Given the description of an element on the screen output the (x, y) to click on. 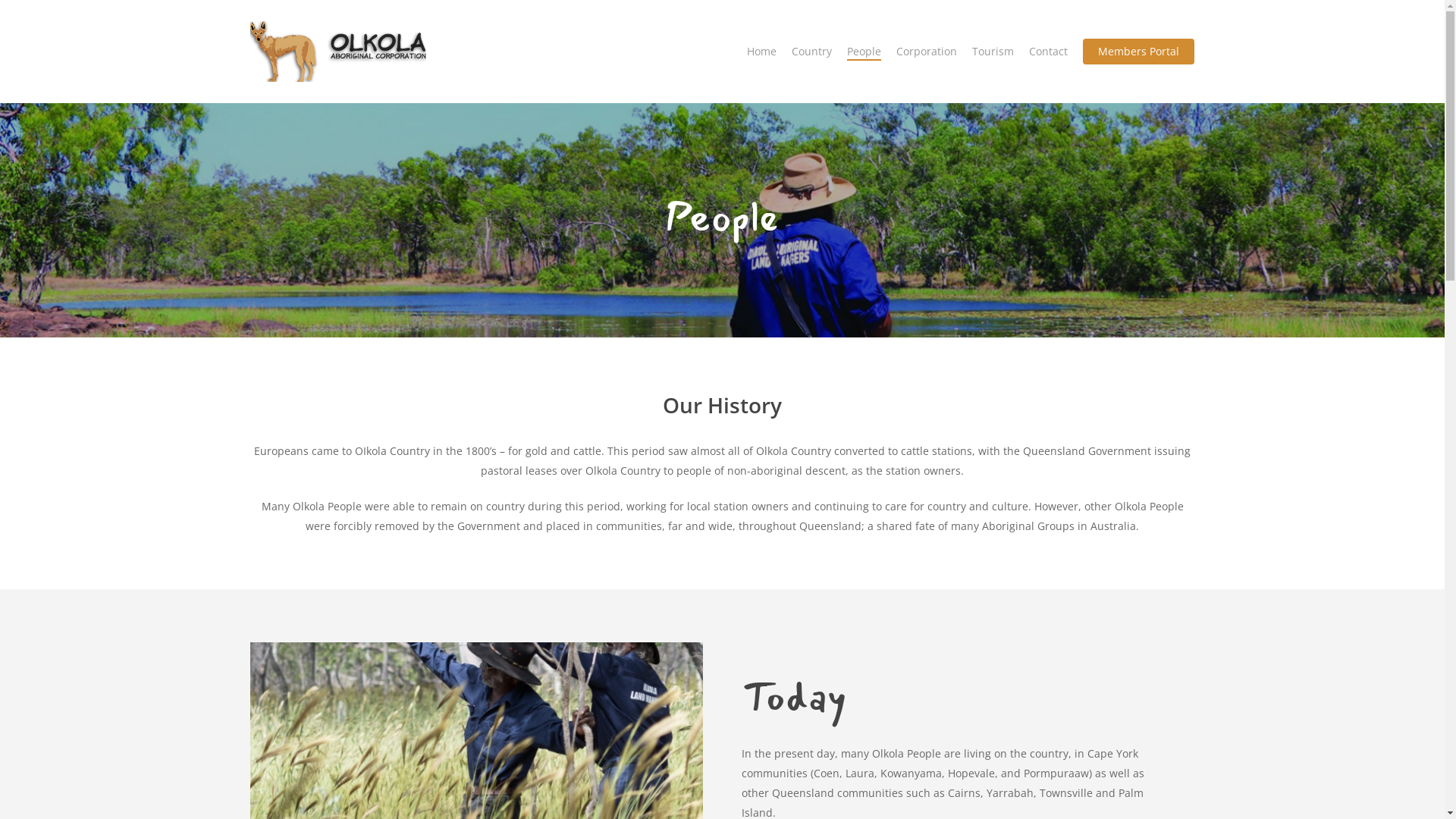
Corporation Element type: text (926, 51)
Home Element type: text (761, 51)
Country Element type: text (811, 51)
Members Portal Element type: text (1138, 51)
People Element type: text (864, 51)
Contact Element type: text (1048, 51)
Tourism Element type: text (992, 51)
